Given the description of an element on the screen output the (x, y) to click on. 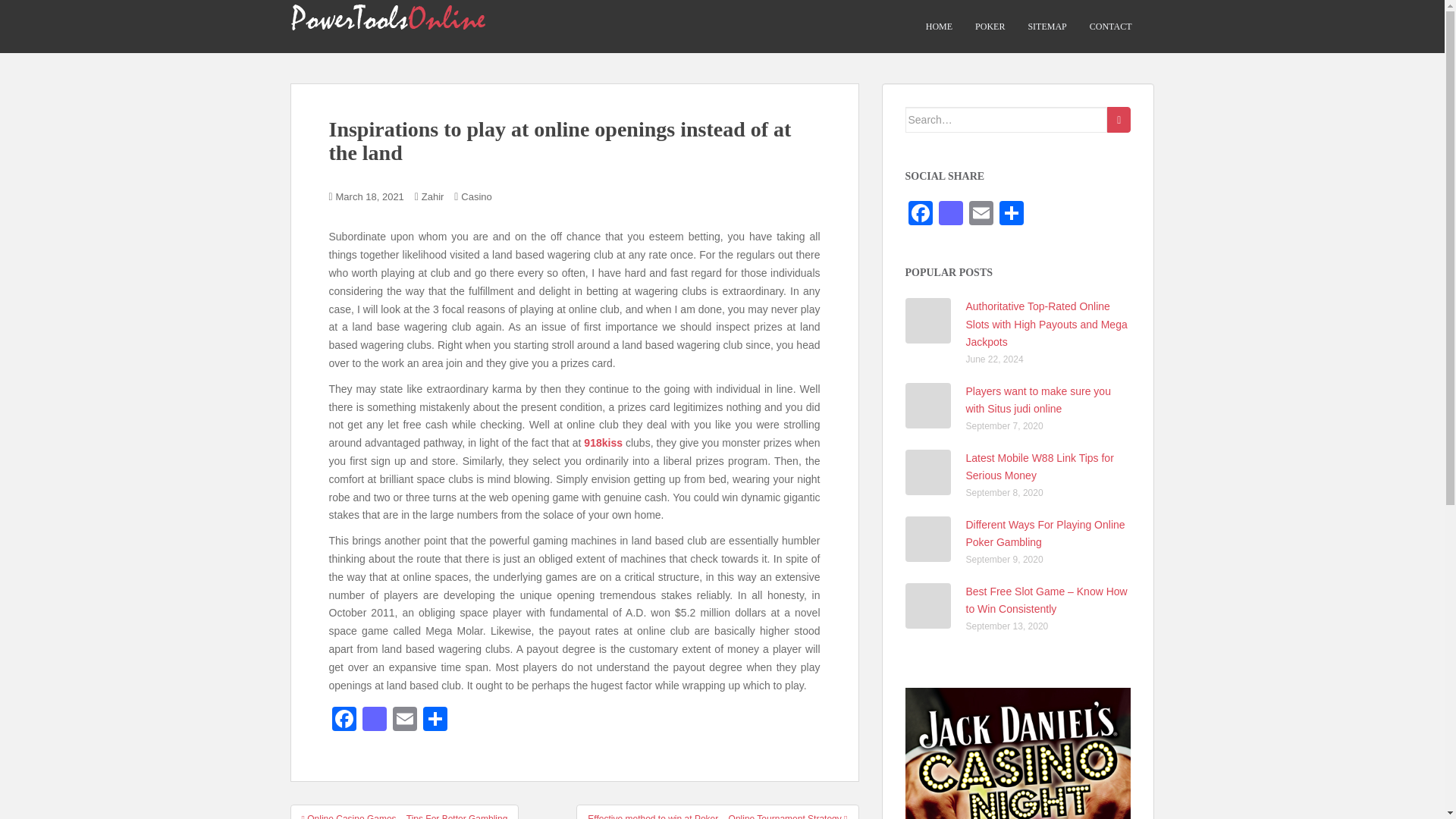
Facebook (920, 214)
Facebook (344, 720)
Email (405, 720)
SITEMAP (1046, 26)
March 18, 2021 (370, 196)
CONTACT (1110, 26)
Mastodon (951, 214)
Latest Mobile W88 Link Tips for Serious Money (1039, 467)
Search for: (1006, 119)
Email (980, 214)
Casino (476, 196)
Search (1118, 119)
Players want to make sure you with Situs judi online (1038, 399)
POKER (989, 26)
Facebook (920, 214)
